Given the description of an element on the screen output the (x, y) to click on. 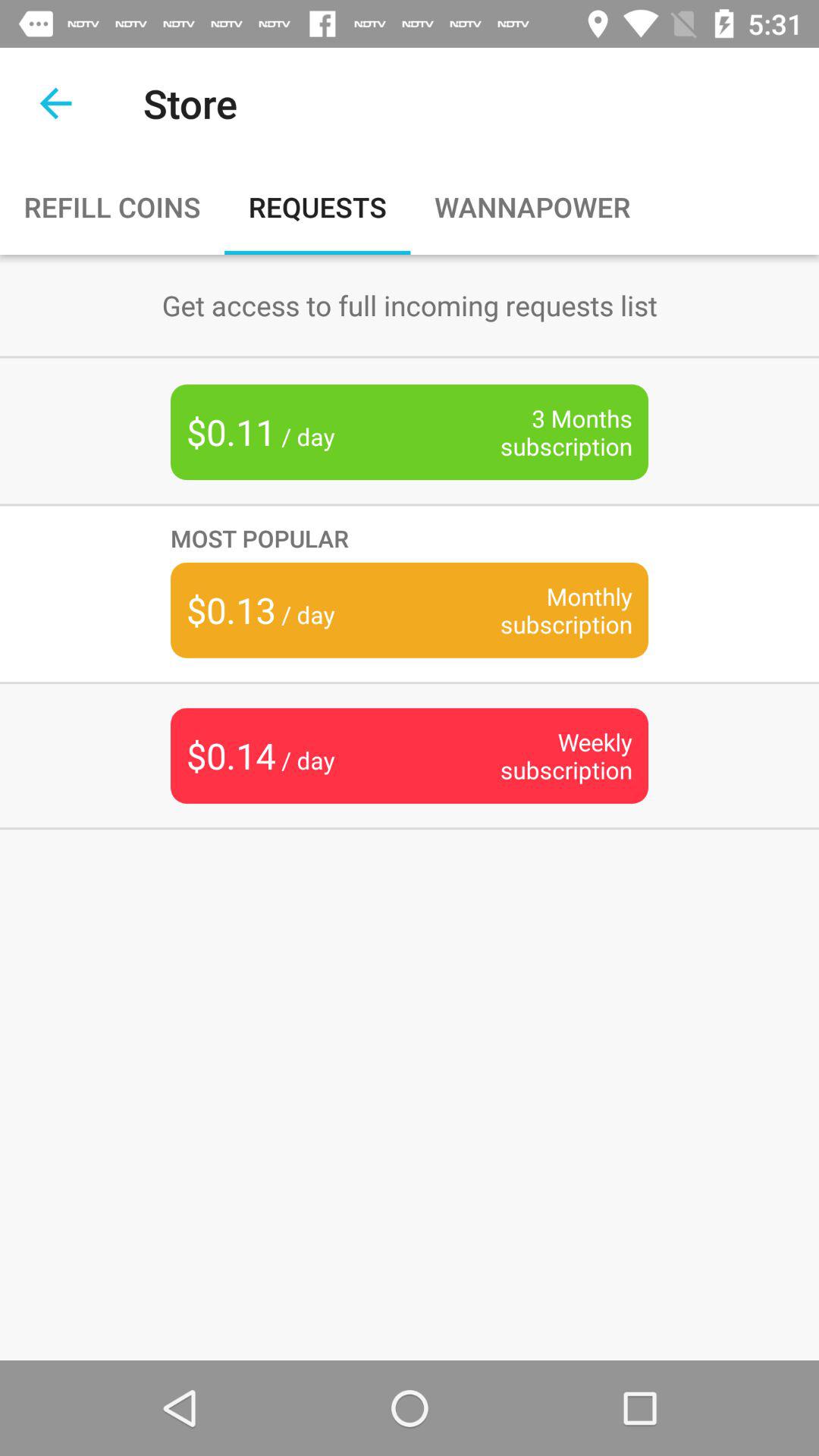
flip to the get access to icon (409, 305)
